Given the description of an element on the screen output the (x, y) to click on. 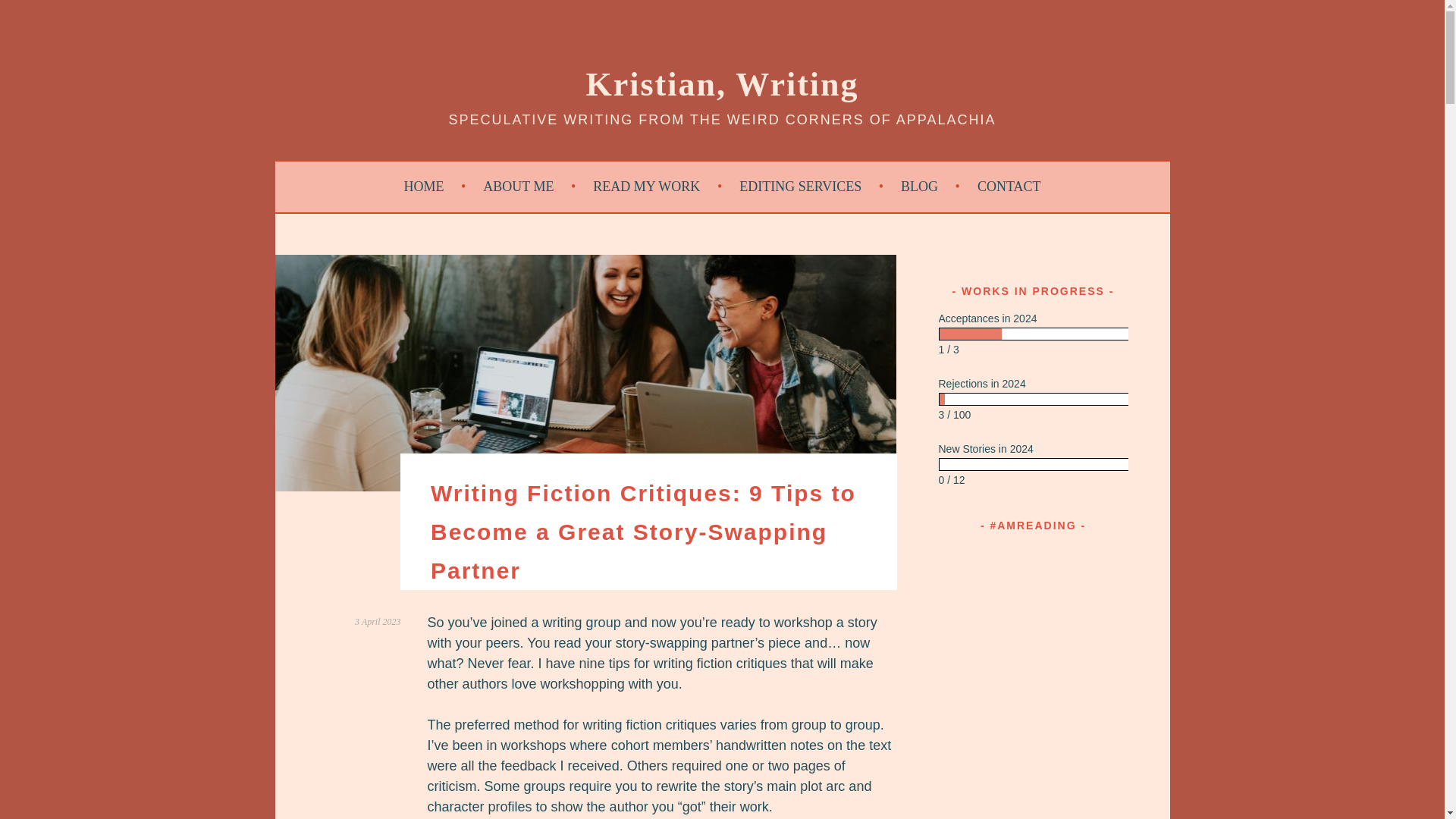
Kristian, Writing (722, 84)
CONTACT (1008, 187)
BLOG (930, 187)
READ MY WORK (657, 187)
ABOUT ME (529, 187)
EDITING SERVICES (811, 187)
Kristian, Writing (722, 84)
3 April 2023 (377, 621)
HOME (434, 187)
